Given the description of an element on the screen output the (x, y) to click on. 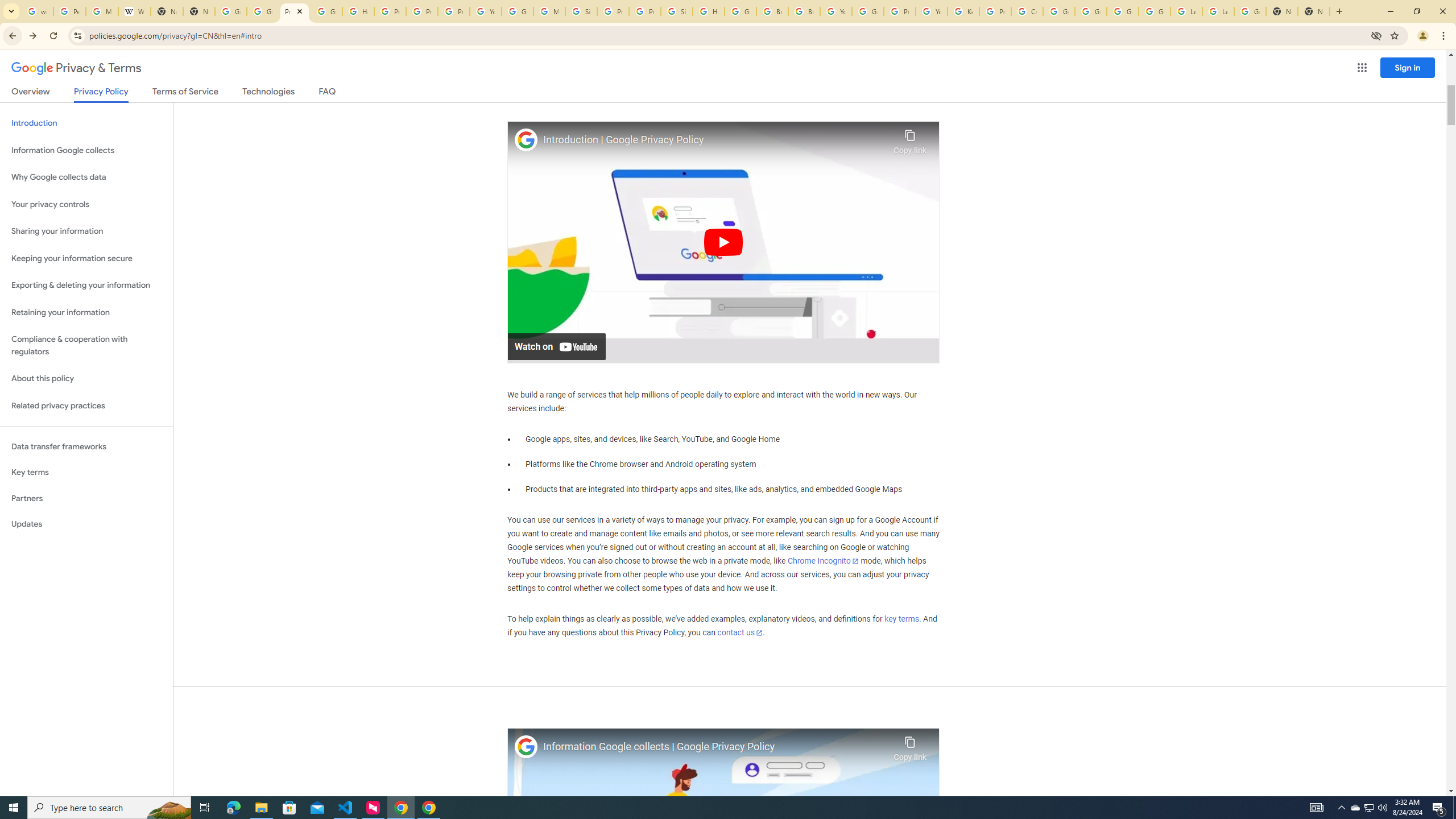
New Tab (1281, 11)
Data transfer frameworks (86, 446)
Copy link (909, 745)
Brand Resource Center (772, 11)
YouTube (931, 11)
Create your Google Account (1027, 11)
Your privacy controls (86, 204)
Photo image of Google (526, 746)
Information Google collects (86, 150)
Related privacy practices (86, 405)
